Given the description of an element on the screen output the (x, y) to click on. 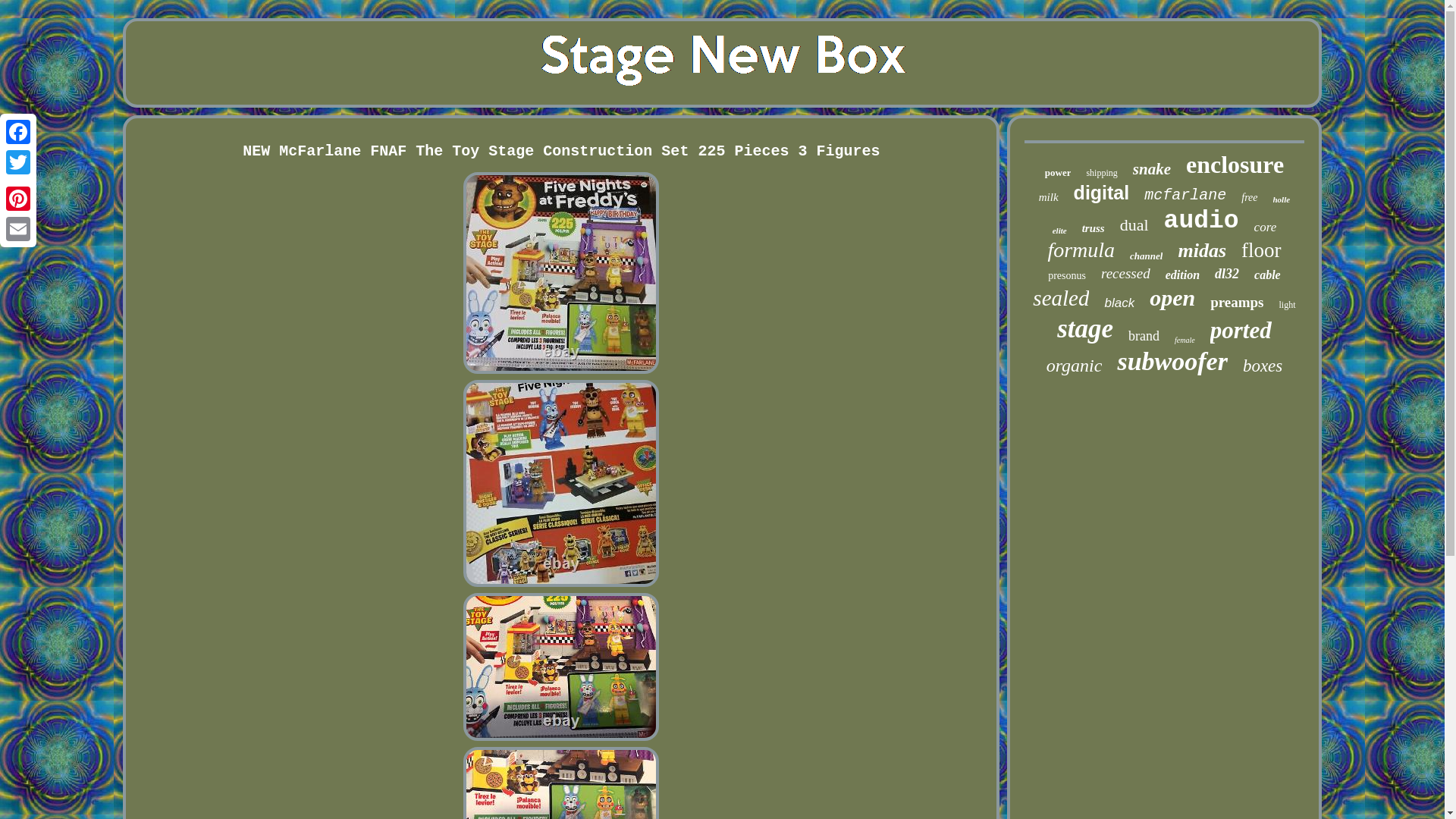
core (1264, 227)
floor (1261, 250)
free (1249, 197)
truss (1093, 228)
edition (1182, 274)
mcfarlane (1184, 194)
presonus (1067, 275)
light (1287, 305)
dual (1133, 225)
dl32 (1226, 273)
midas (1201, 250)
power (1058, 173)
audio (1201, 221)
